Given the description of an element on the screen output the (x, y) to click on. 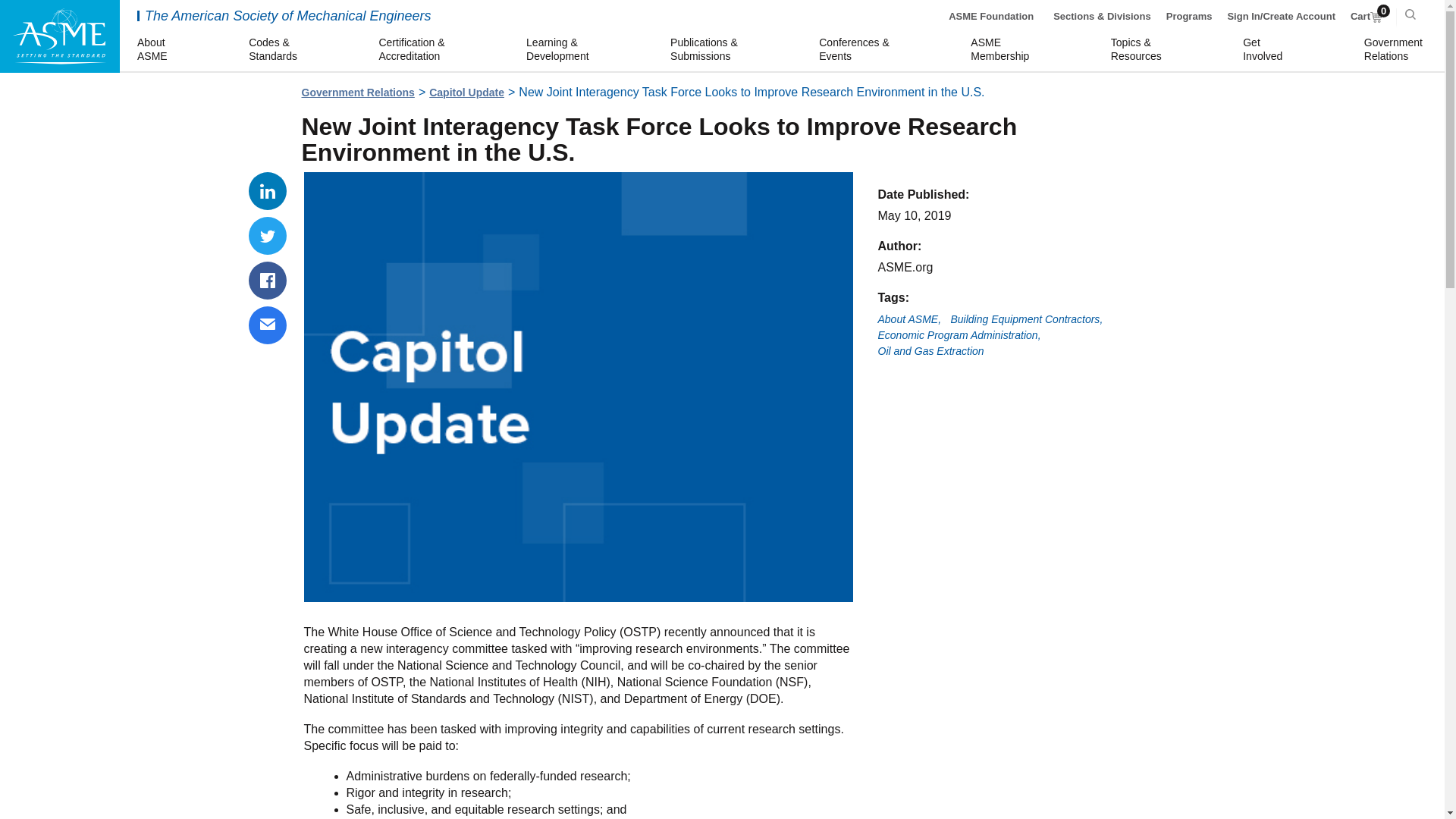
Share via email (267, 324)
Government Relations (357, 92)
ASME Foundation (991, 16)
Programs (153, 49)
Economic Program Administration (1366, 16)
ASME (1189, 16)
Share on LinkedIn (1002, 49)
